Given the description of an element on the screen output the (x, y) to click on. 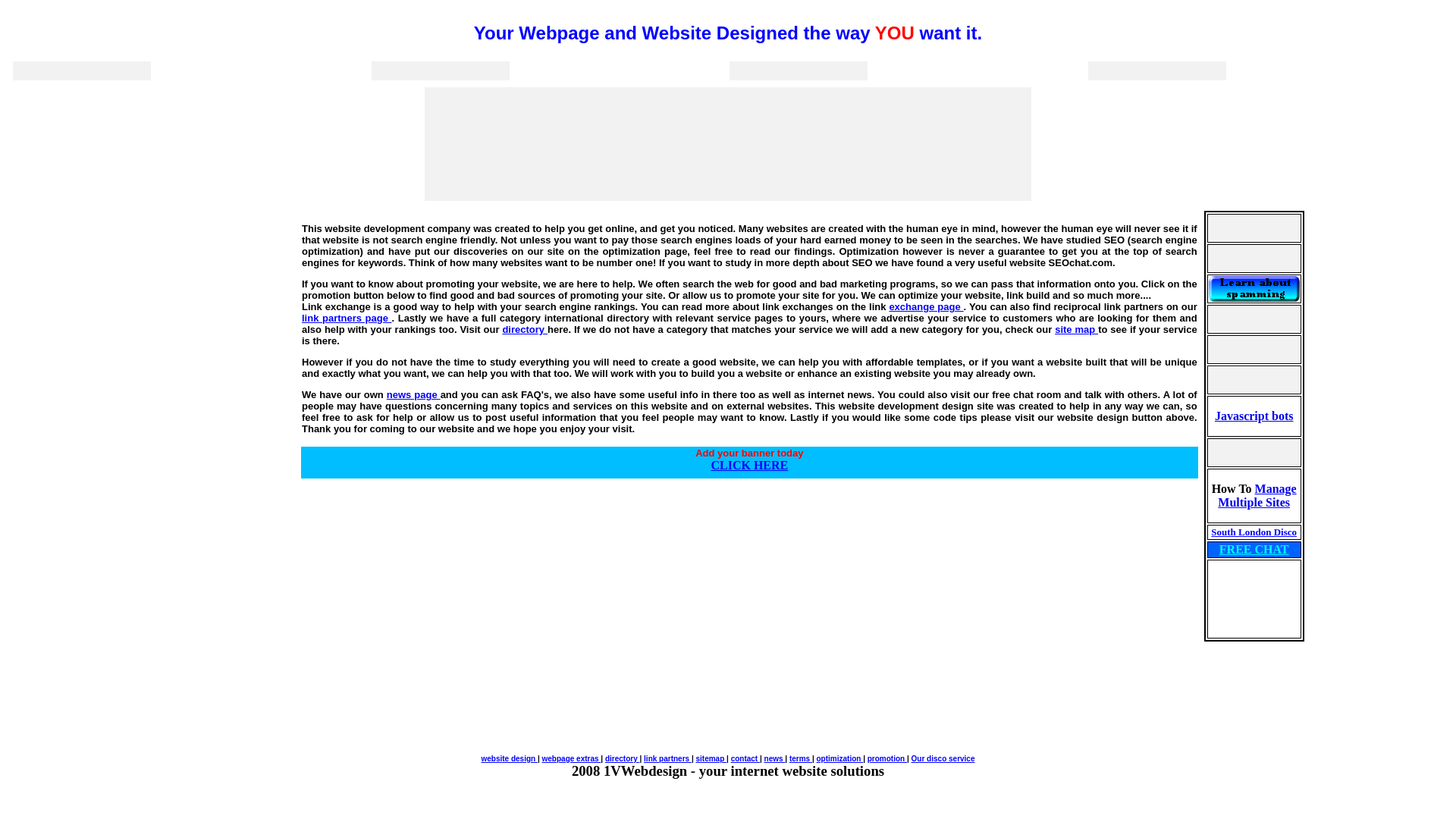
link partners Element type: text (667, 758)
South London Disco Element type: text (1253, 531)
directory Element type: text (524, 329)
contact Element type: text (745, 758)
exchange page Element type: text (925, 306)
Our disco service Element type: text (943, 758)
FREE CHAT Element type: text (1254, 548)
optimization Element type: text (839, 758)
CLICK HERE Element type: text (748, 464)
promotion Element type: text (886, 758)
site map Element type: text (1076, 329)
terms Element type: text (800, 758)
Manage Multiple Sites Element type: text (1256, 495)
news Element type: text (774, 758)
website design Element type: text (508, 758)
webpage extras Element type: text (571, 758)
link partners page Element type: text (346, 317)
directory Element type: text (622, 758)
news page Element type: text (413, 394)
sitemap Element type: text (710, 758)
Javascript bots Element type: text (1253, 415)
